Given the description of an element on the screen output the (x, y) to click on. 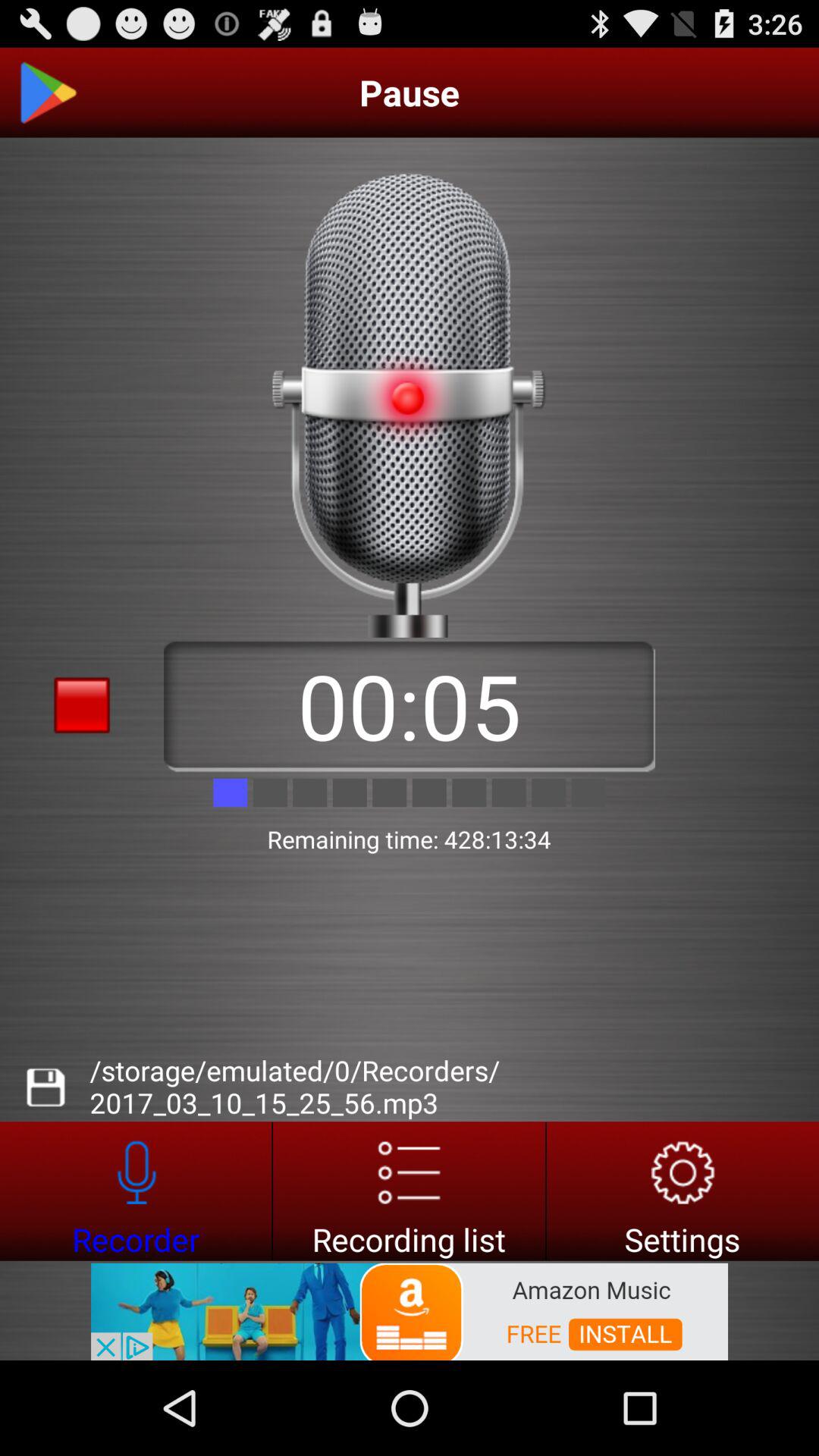
view recording list (409, 1190)
